Given the description of an element on the screen output the (x, y) to click on. 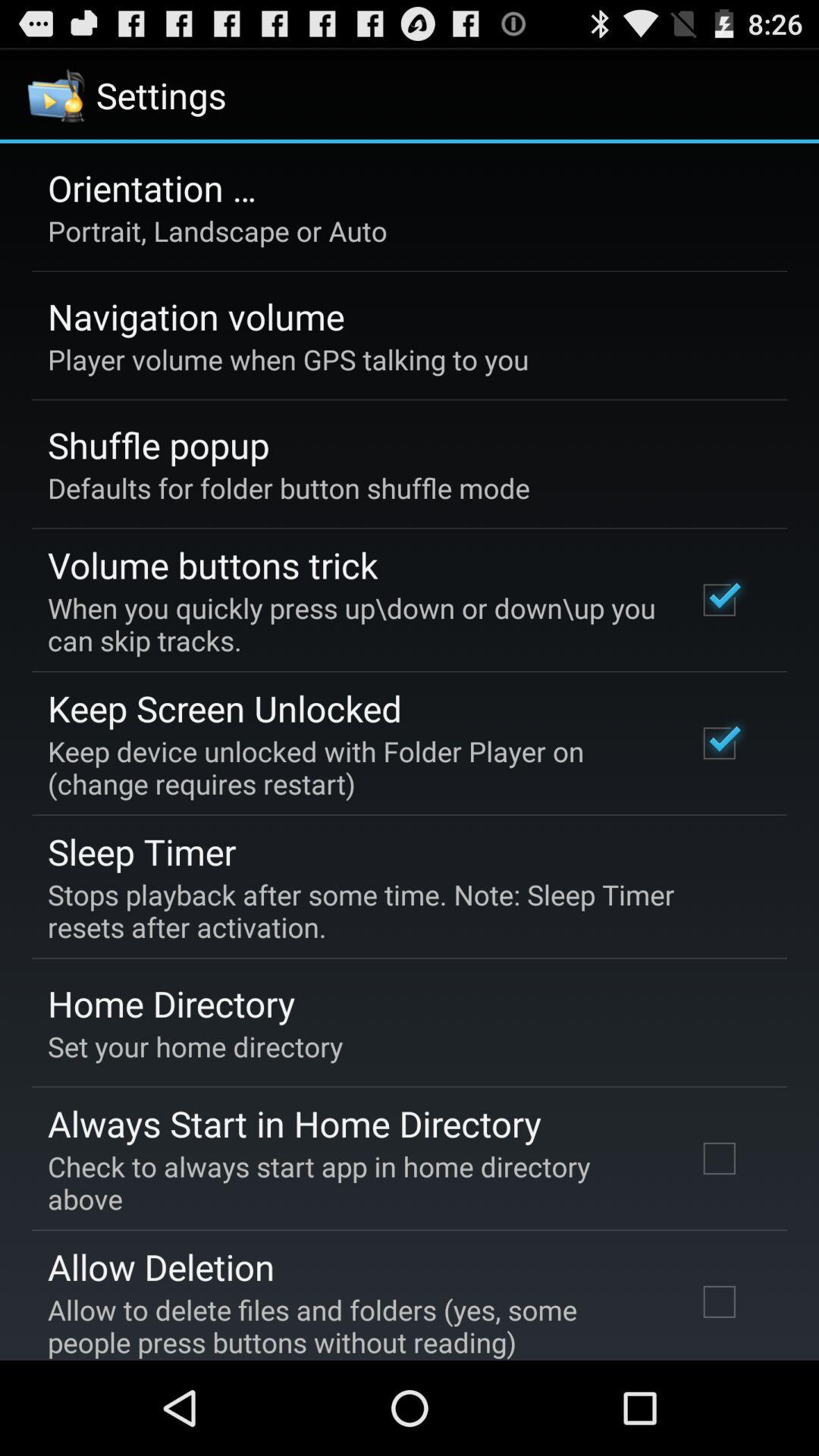
swipe to allow deletion app (160, 1266)
